Given the description of an element on the screen output the (x, y) to click on. 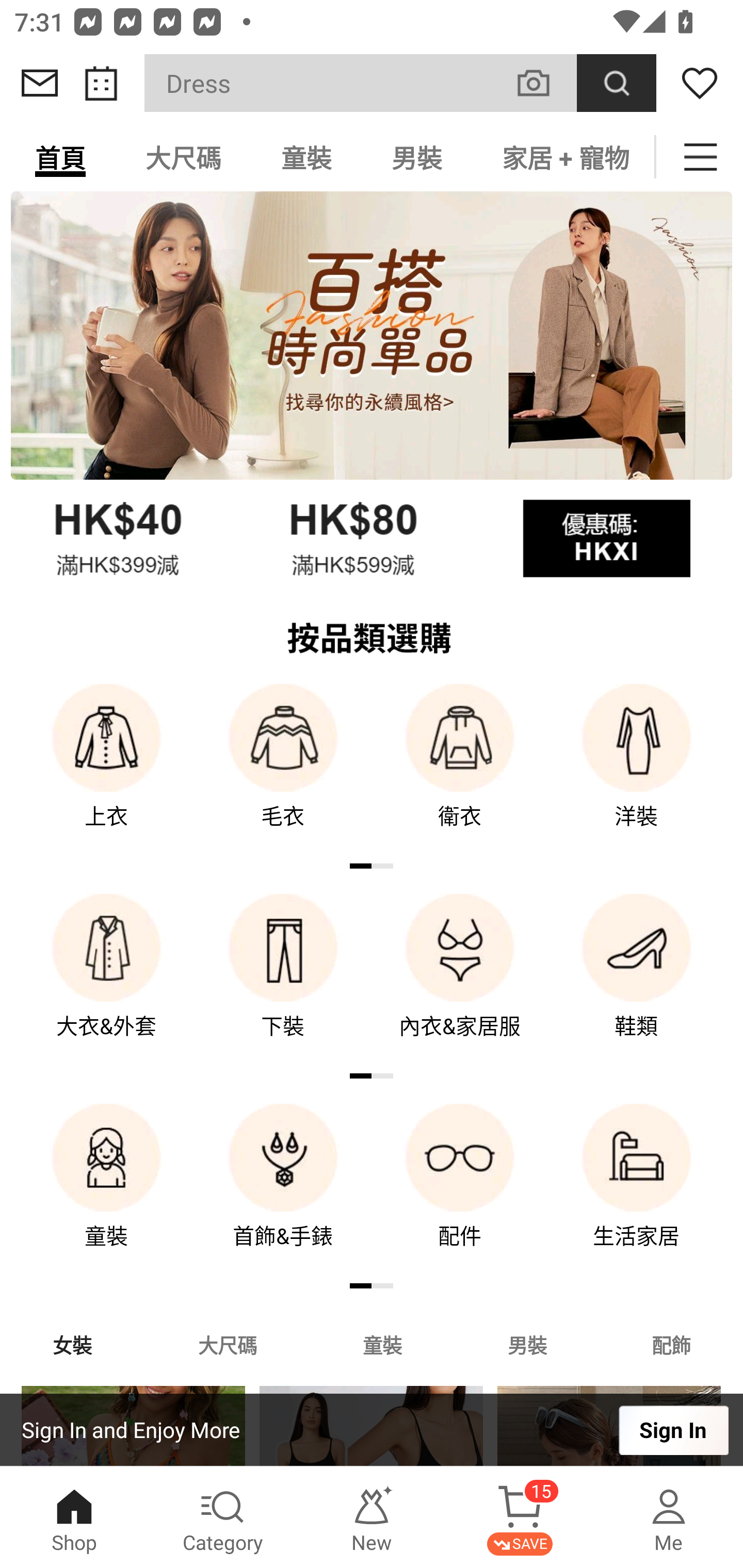
Wishlist (699, 82)
VISUAL SEARCH (543, 82)
首頁 (60, 156)
大尺碼 (183, 156)
童裝 (306, 156)
男裝 (416, 156)
家居 + 寵物 (563, 156)
上衣 (105, 769)
毛衣 (282, 769)
衛衣 (459, 769)
洋裝 (636, 769)
大衣&外套 (105, 979)
下裝 (282, 979)
內衣&家居服 (459, 979)
鞋類 (636, 979)
童裝 (105, 1189)
首飾&手錶 (282, 1189)
配件 (459, 1189)
生活家居 (636, 1189)
女裝 (72, 1344)
大尺碼 (226, 1344)
童裝 (381, 1344)
男裝 (527, 1344)
配飾 (671, 1344)
Sign In and Enjoy More Sign In (371, 1429)
Category (222, 1517)
New (371, 1517)
Cart 15 SAVE (519, 1517)
Me (668, 1517)
